Given the description of an element on the screen output the (x, y) to click on. 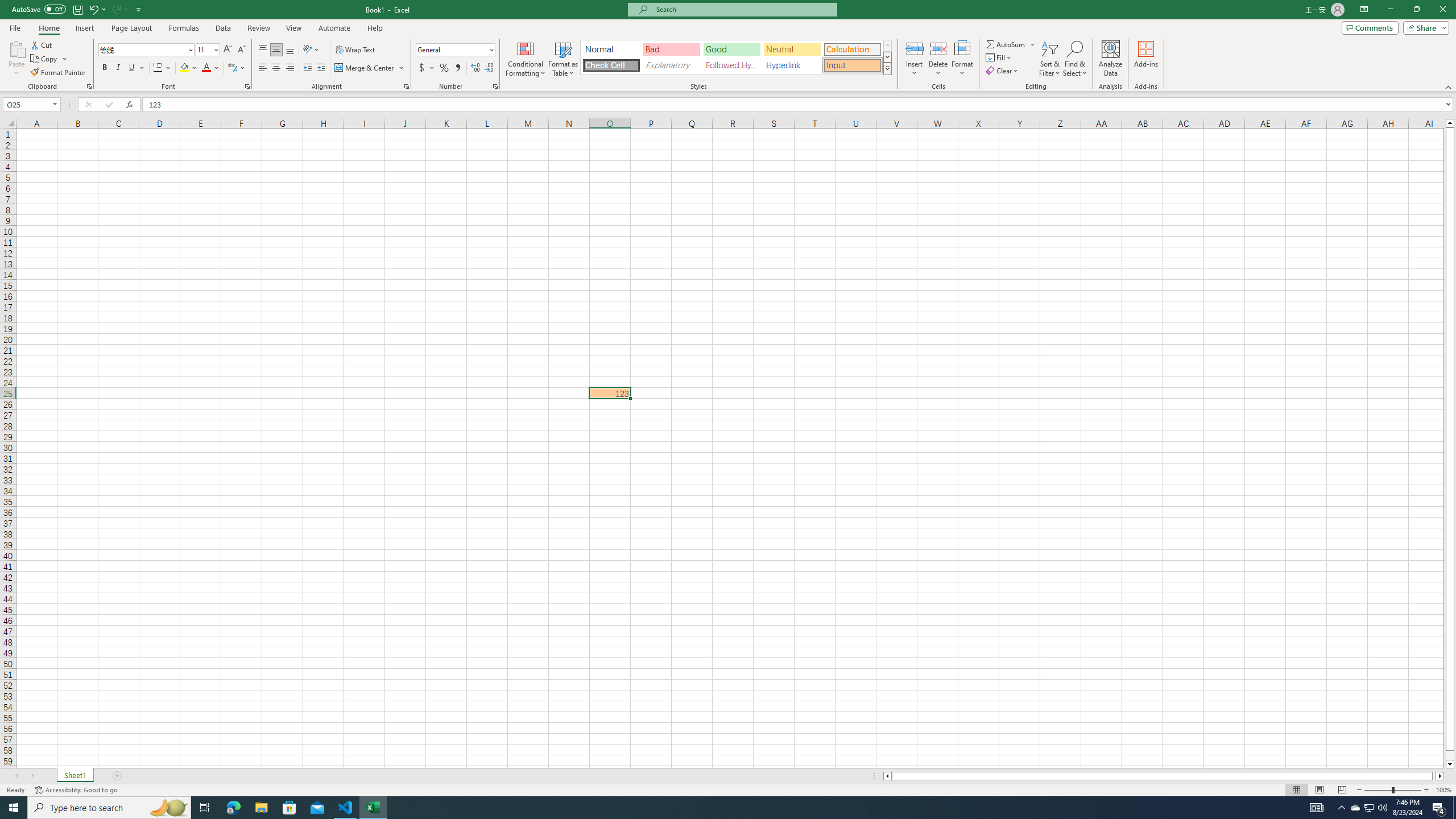
Wrap Text (355, 49)
Sum (1006, 44)
Decrease Indent (307, 67)
Format Cell Number (494, 85)
Top Align (262, 49)
Explanatory Text (671, 65)
Cut (42, 44)
